Given the description of an element on the screen output the (x, y) to click on. 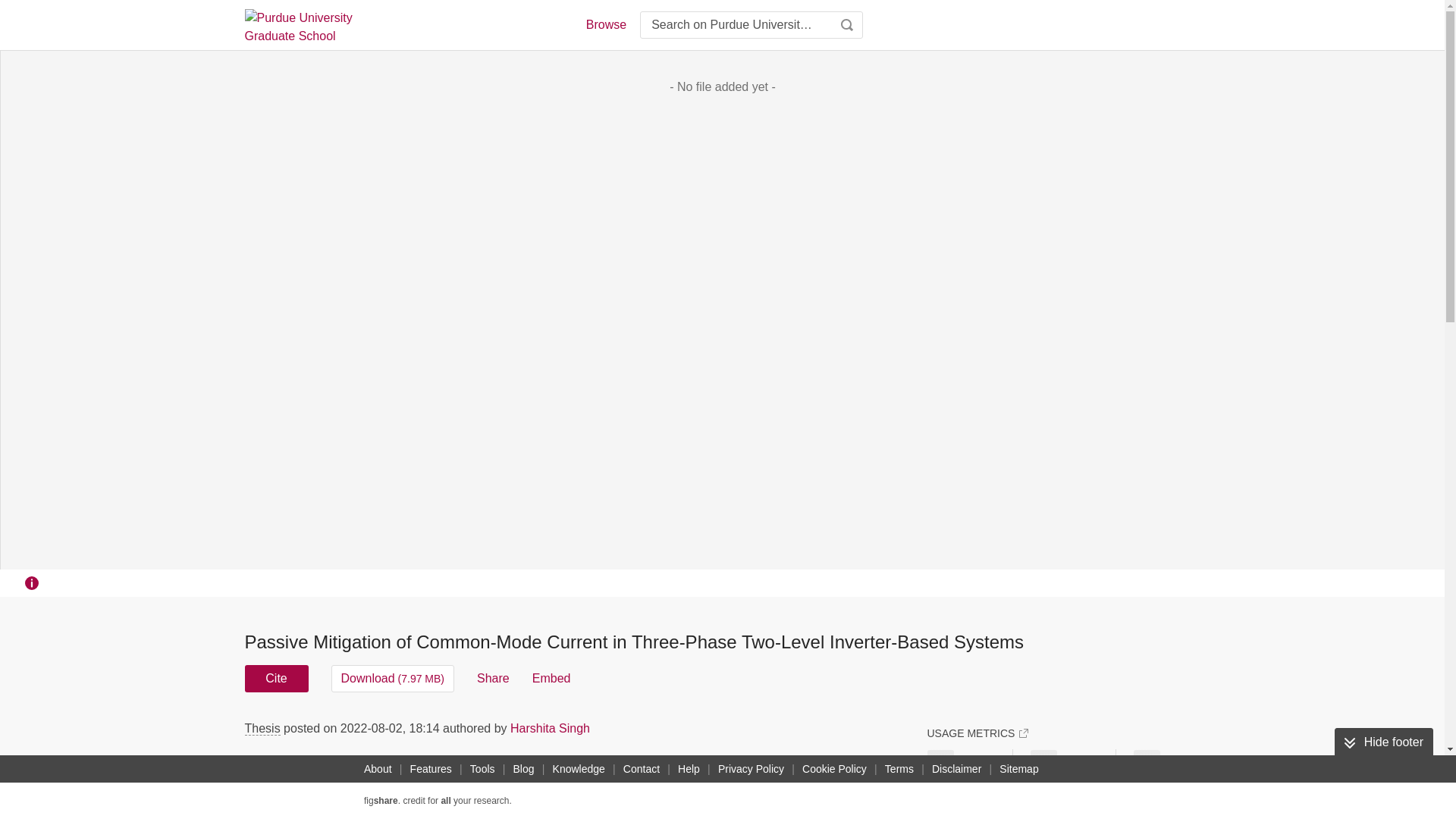
About (377, 769)
Features (431, 769)
Embed (551, 678)
Disclaimer (956, 769)
Hide footer (1383, 742)
Share (493, 678)
Help (688, 769)
Terms (899, 769)
Cite (275, 678)
Blog (523, 769)
